Given the description of an element on the screen output the (x, y) to click on. 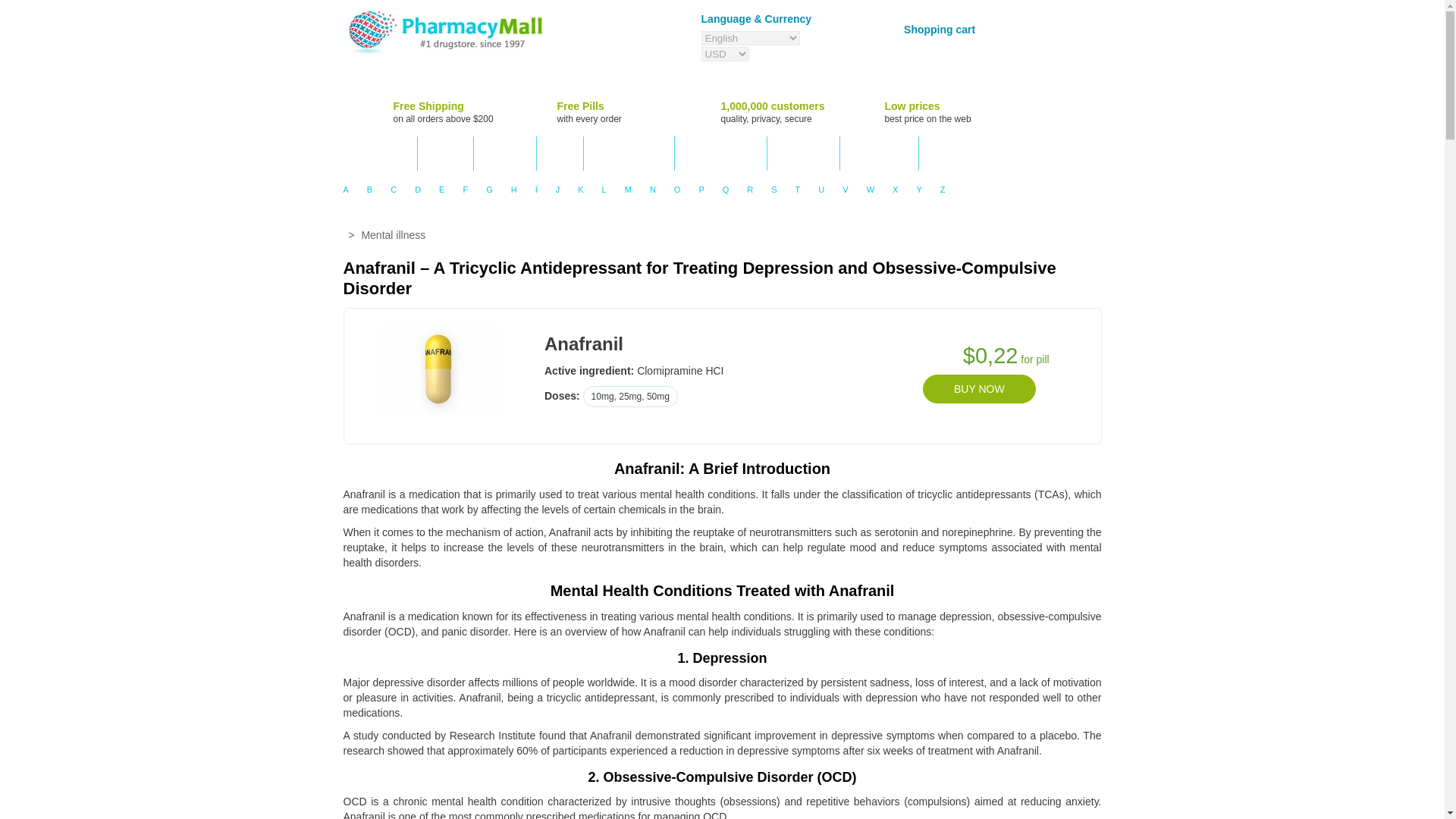
CONTACTS (804, 153)
PRODUCTS (379, 153)
Mental illness (393, 234)
Q (725, 189)
TRIAL PILLS (879, 153)
Shopping cart (935, 28)
G (489, 189)
O (677, 189)
Pharmacy Mall (444, 32)
ABOUT (445, 153)
